Given the description of an element on the screen output the (x, y) to click on. 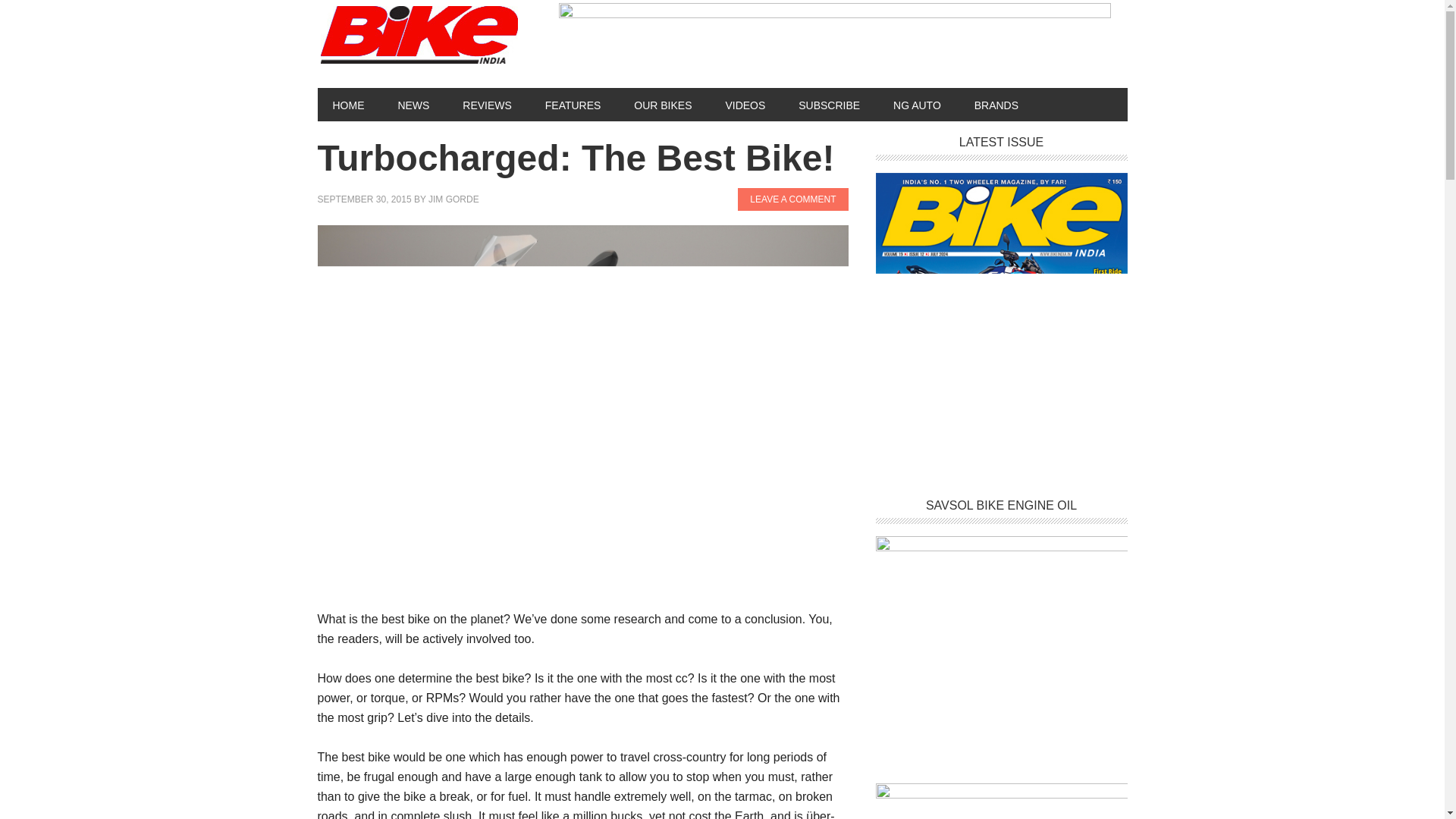
NG AUTO (916, 104)
BRANDS (996, 104)
BIKE INDIA (422, 35)
REVIEWS (486, 104)
HOME (347, 104)
FEATURES (572, 104)
OUR BIKES (662, 104)
JIM GORDE (453, 199)
SUBSCRIBE (829, 104)
LEAVE A COMMENT (792, 199)
VIDEOS (745, 104)
NEWS (412, 104)
